Given the description of an element on the screen output the (x, y) to click on. 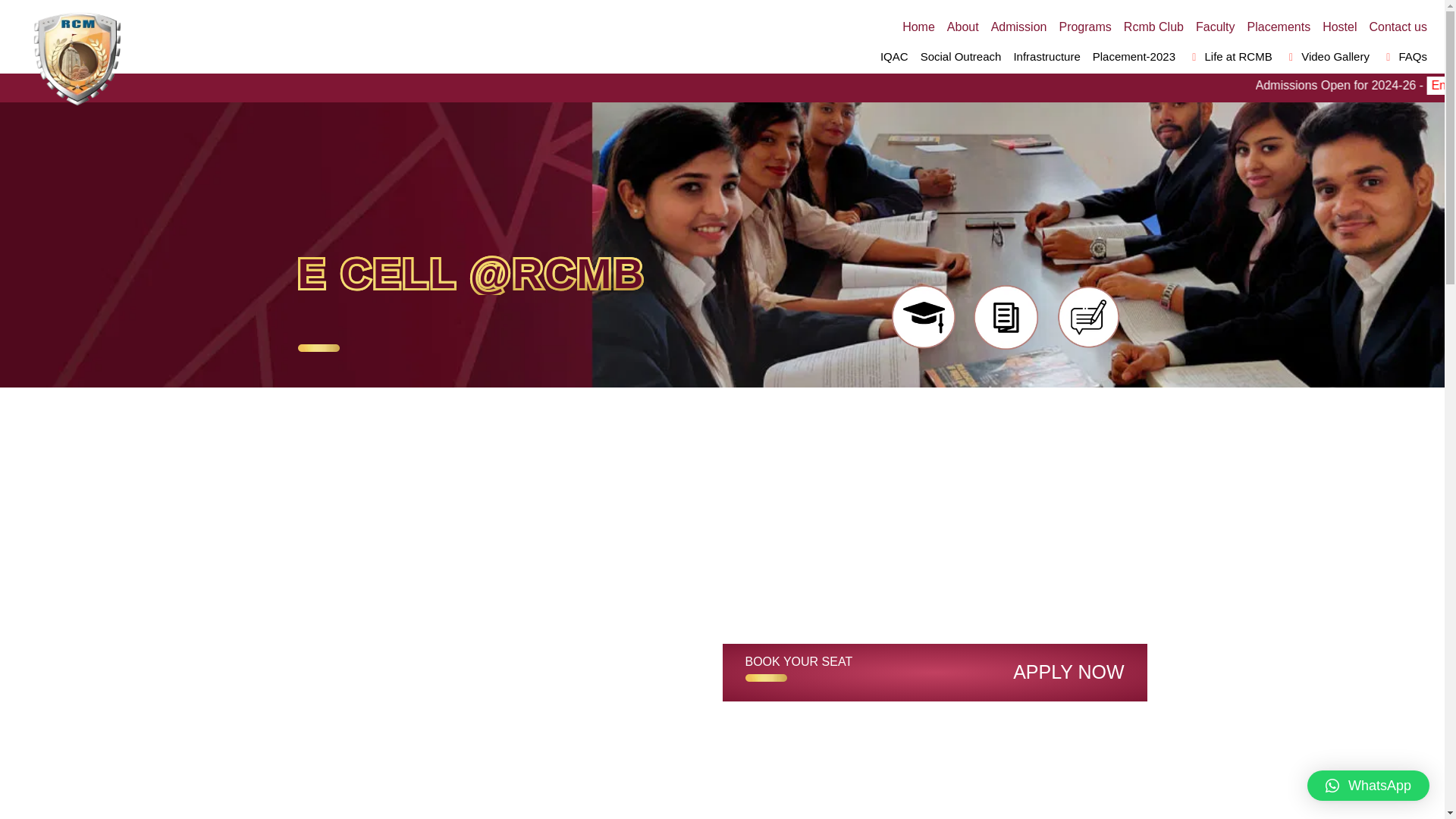
Faculty (1215, 27)
Home (918, 27)
Contact us (1397, 27)
Admission (1018, 27)
About (962, 27)
Programs (1084, 27)
Rcmb Club (1153, 27)
Hostel (1339, 27)
Placements (1279, 27)
